Given the description of an element on the screen output the (x, y) to click on. 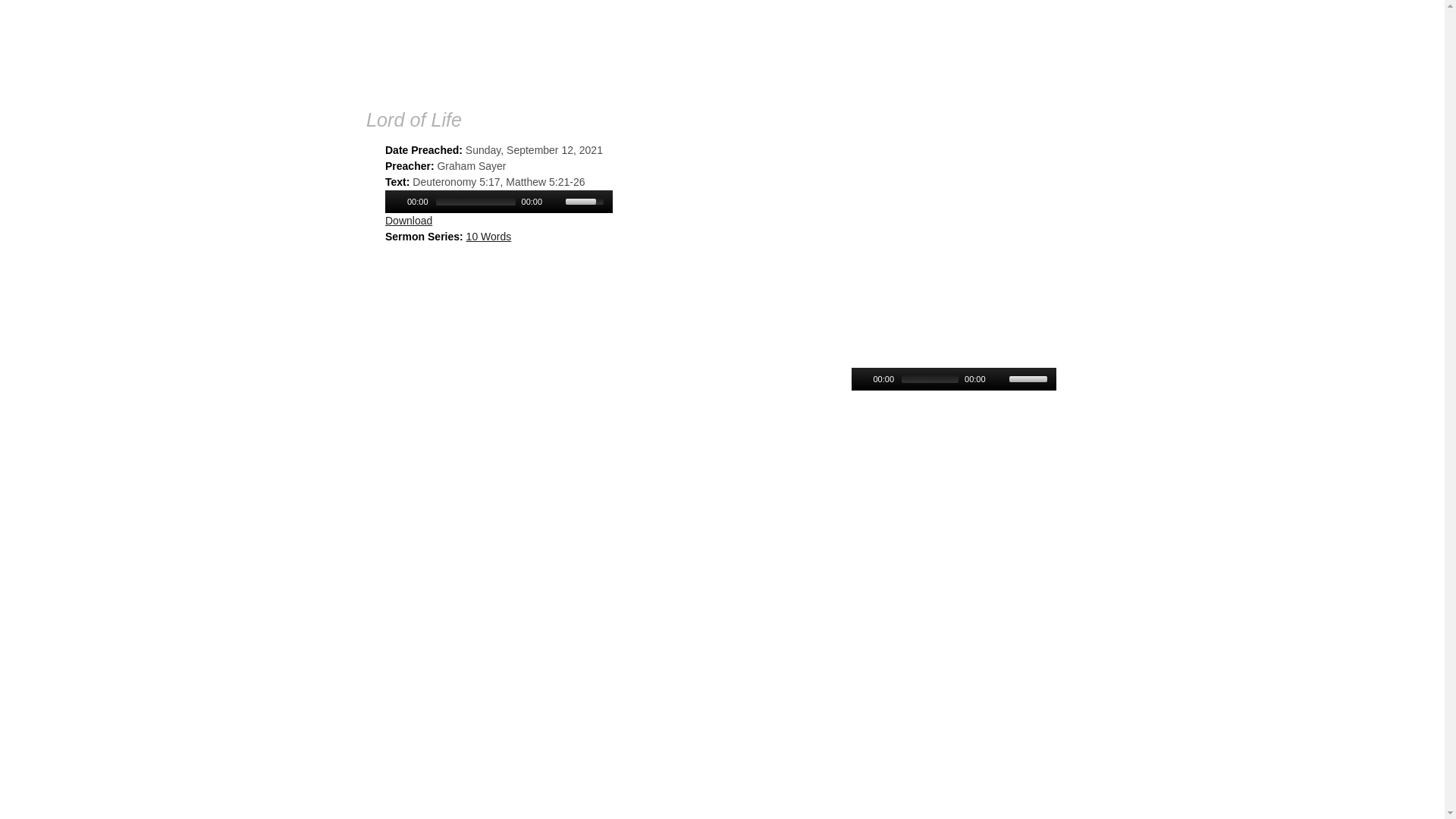
Us Element type: text (823, 49)
Resurrection is Essential Element type: text (908, 357)
Home Element type: text (701, 49)
Resources Element type: text (1005, 49)
Mute Toggle Element type: hover (555, 201)
Ministries Element type: text (944, 49)
Home Element type: hover (482, 42)
Mute Toggle Element type: hover (999, 379)
What'S On Element type: text (883, 49)
Welcome Element type: text (762, 49)
Play/Pause Element type: hover (395, 201)
Download Element type: text (408, 220)
Download File Element type: text (884, 397)
office@crckingston.org.au Element type: text (714, 370)
Support Element type: text (1065, 49)
10 Words Element type: text (488, 236)
Play/Pause Element type: hover (861, 379)
